Given the description of an element on the screen output the (x, y) to click on. 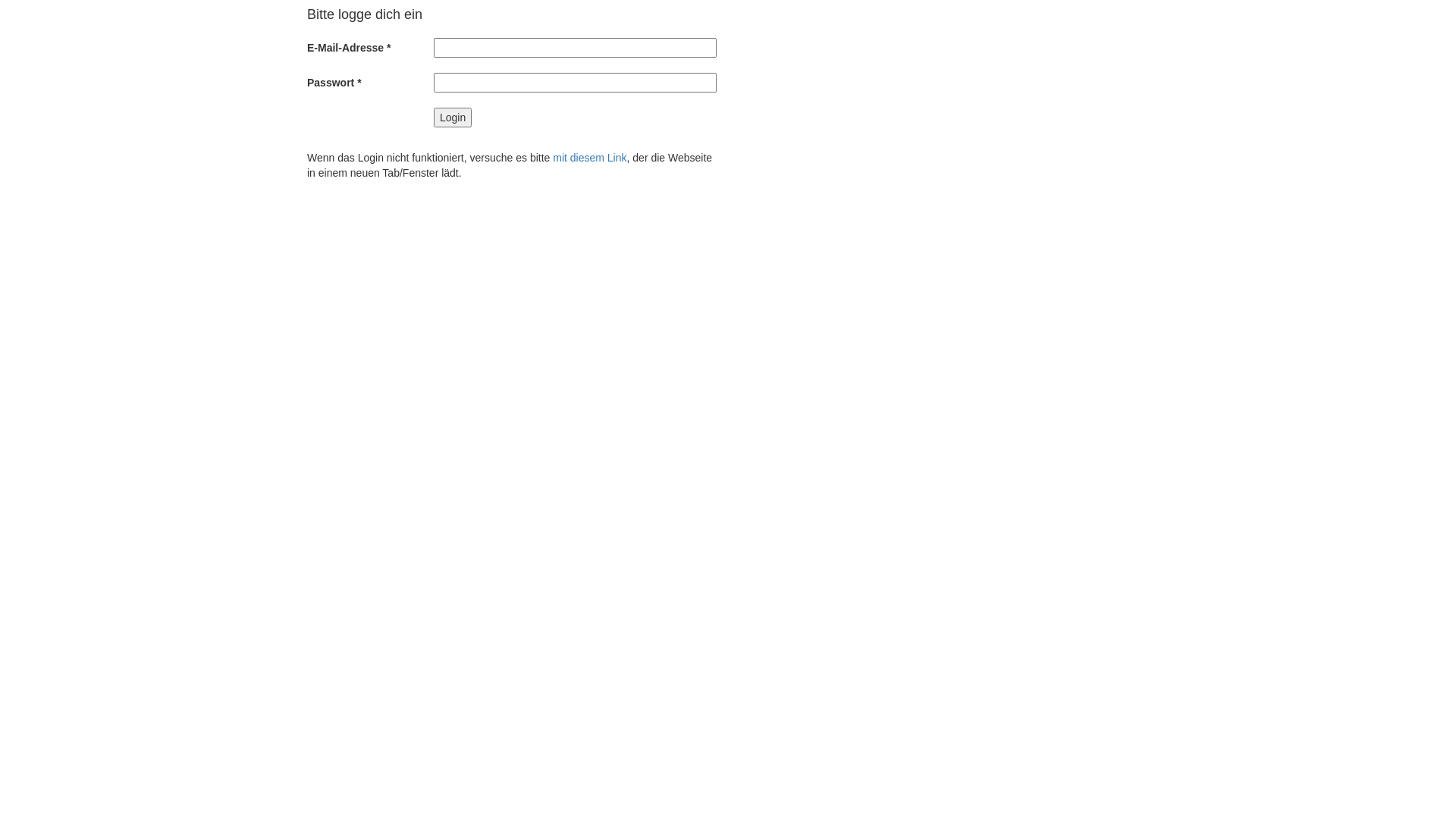
mit diesem Link Element type: text (589, 157)
Login Element type: text (452, 117)
